Given the description of an element on the screen output the (x, y) to click on. 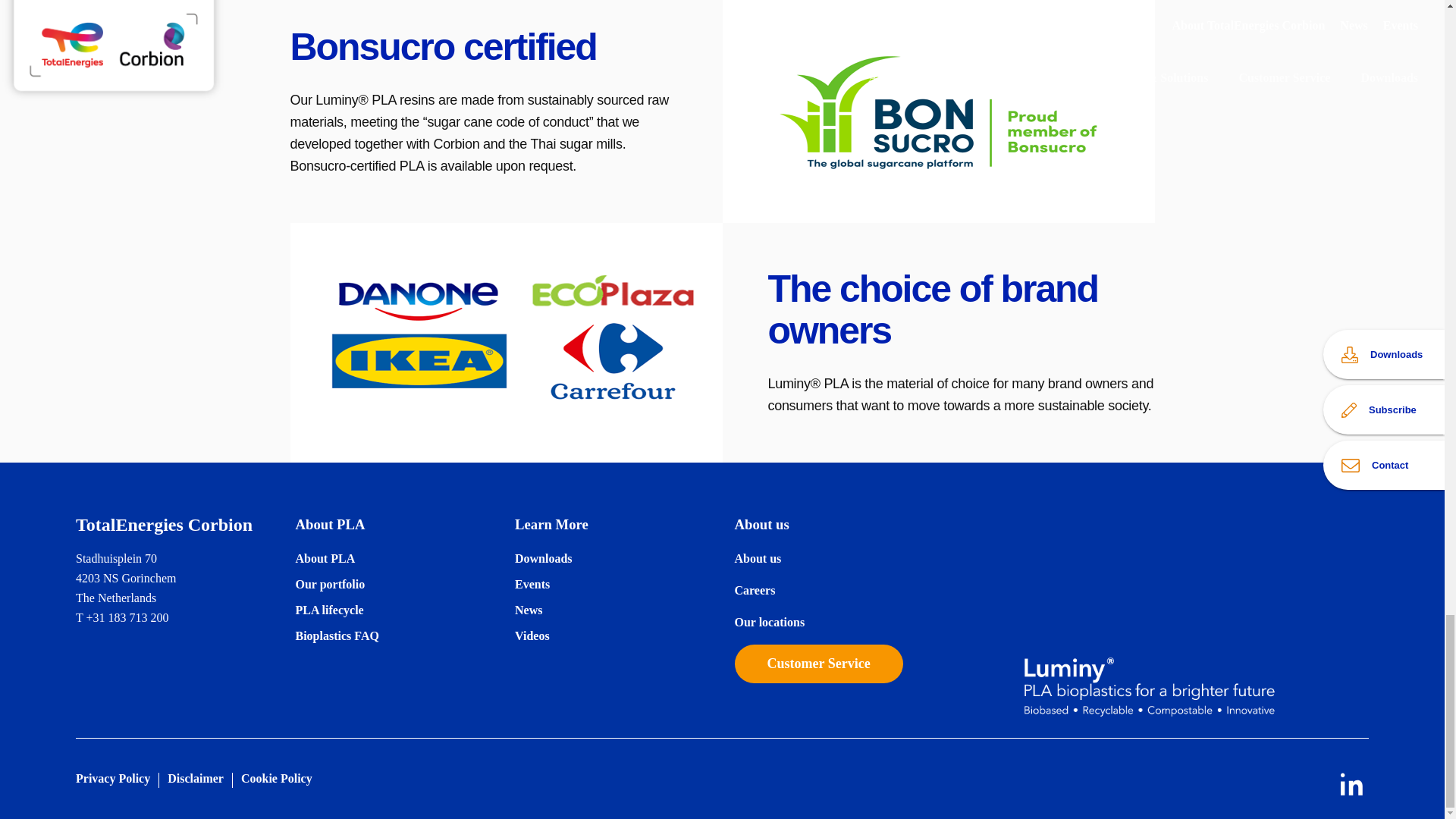
PLA lifecycle (329, 609)
Our portfolio (330, 584)
News (528, 609)
Customer Service (817, 663)
Downloads (543, 558)
Bioplastics FAQ (336, 635)
Our locations (769, 621)
Events (532, 584)
Disclaimer (195, 778)
Customer Service (817, 663)
